Given the description of an element on the screen output the (x, y) to click on. 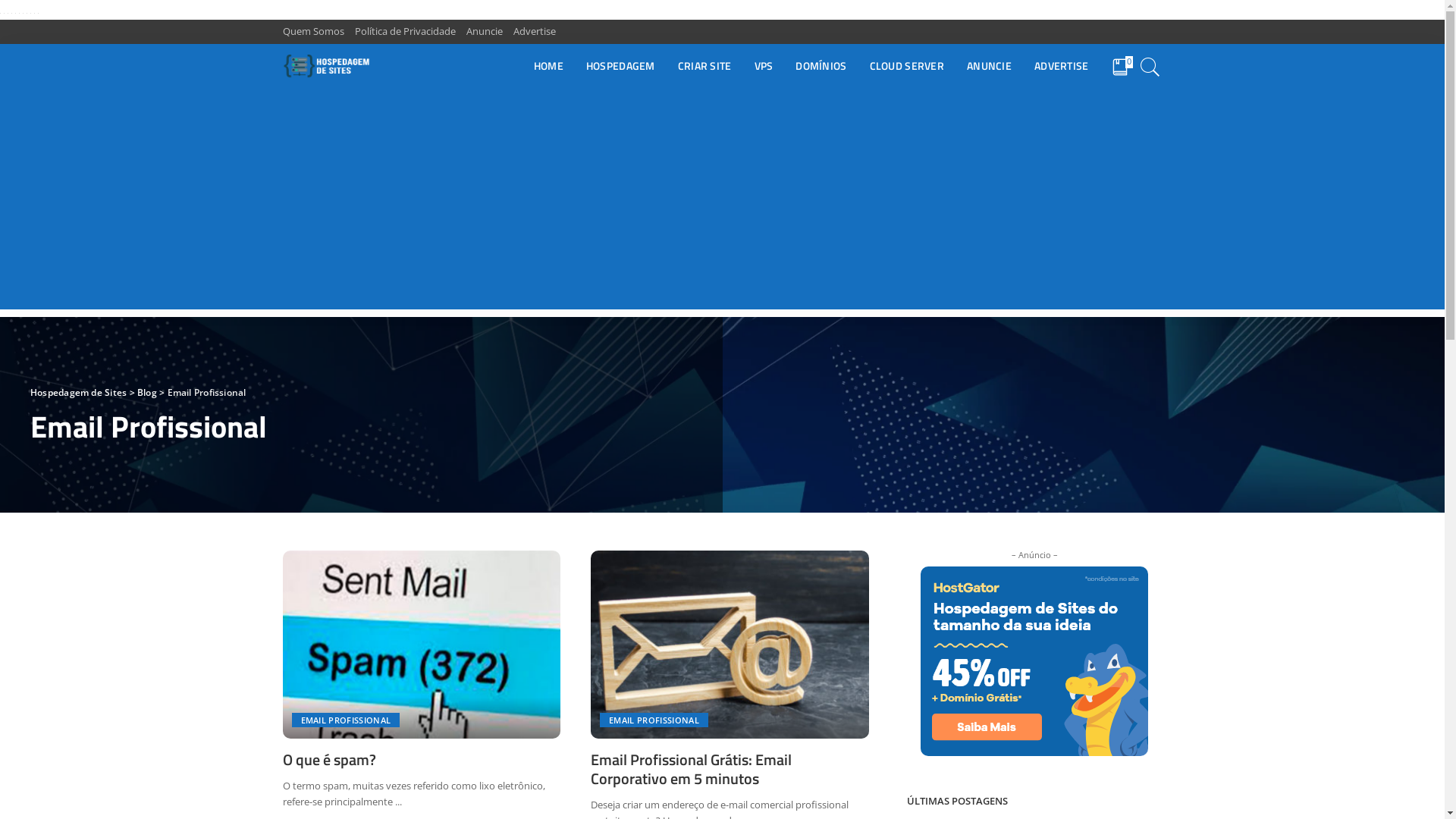
EMAIL PROFISSIONAL Element type: text (345, 719)
CLOUD SERVER Element type: text (906, 66)
Advertisement Element type: hover (721, 203)
Procurar Element type: hover (1149, 66)
ADVERTISE Element type: text (1061, 66)
Pesquisar Element type: text (1140, 116)
EMAIL PROFISSIONAL Element type: text (653, 719)
Advertise Element type: text (534, 31)
VPS Element type: text (763, 66)
Hospedagem de Sites Element type: text (78, 391)
ANUNCIE Element type: text (988, 66)
Hospedagem de Sites Element type: hover (326, 66)
CRIAR SITE Element type: text (704, 66)
HOME Element type: text (548, 66)
Blog Element type: text (146, 391)
Pesquisar Element type: text (1140, 27)
HOSPEDAGEM Element type: text (620, 66)
Anuncie Element type: text (484, 31)
0 Element type: text (1121, 66)
Quem Somos Element type: text (315, 31)
